Given the description of an element on the screen output the (x, y) to click on. 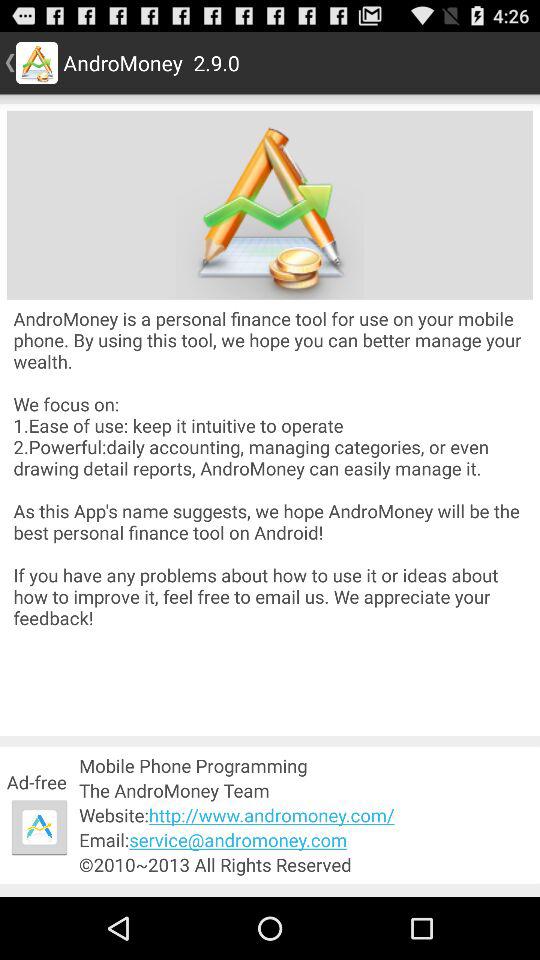
click icon below the website http www app (306, 839)
